Given the description of an element on the screen output the (x, y) to click on. 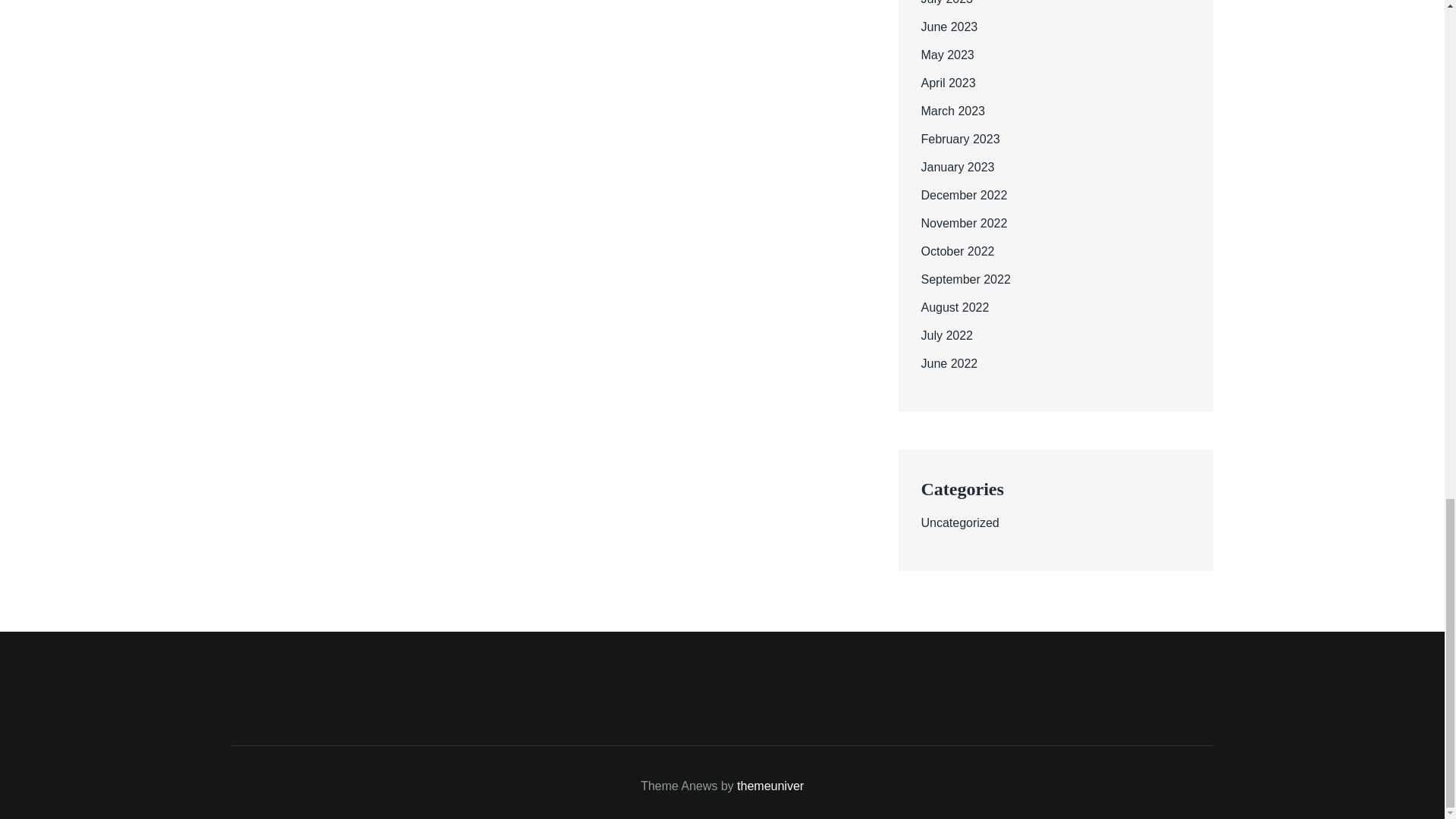
April 2023 (947, 82)
May 2023 (947, 54)
February 2023 (959, 138)
January 2023 (957, 166)
June 2023 (948, 26)
December 2022 (963, 195)
July 2023 (946, 2)
March 2023 (952, 110)
